Given the description of an element on the screen output the (x, y) to click on. 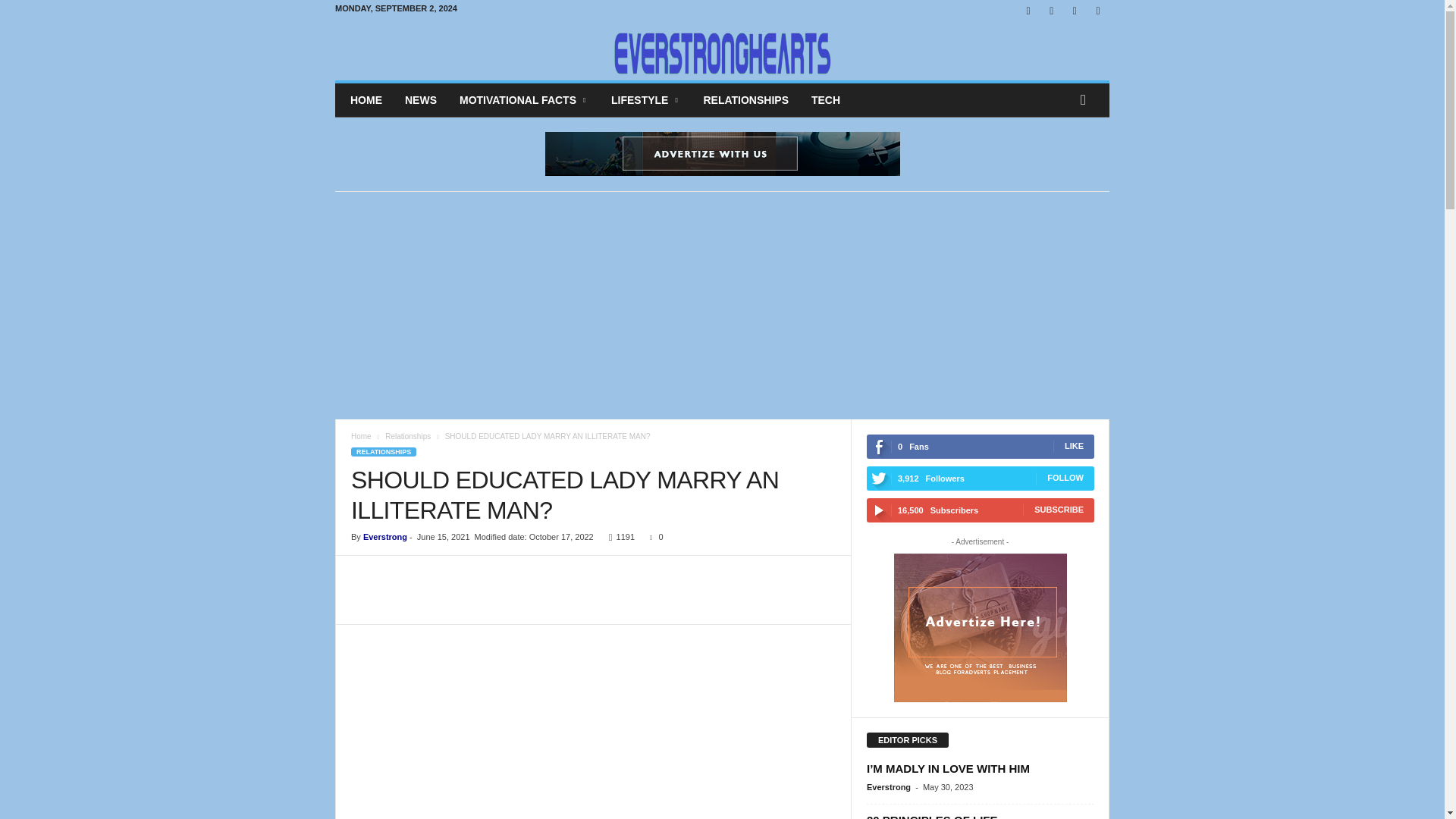
Everstrong (384, 536)
Relationships (407, 436)
HOME (366, 100)
LIFESTYLE (645, 100)
0 (652, 536)
View all posts in Relationships (407, 436)
Everstrong Hearts (721, 51)
RELATIONSHIPS (745, 100)
Home (360, 436)
RELATIONSHIPS (383, 451)
